Given the description of an element on the screen output the (x, y) to click on. 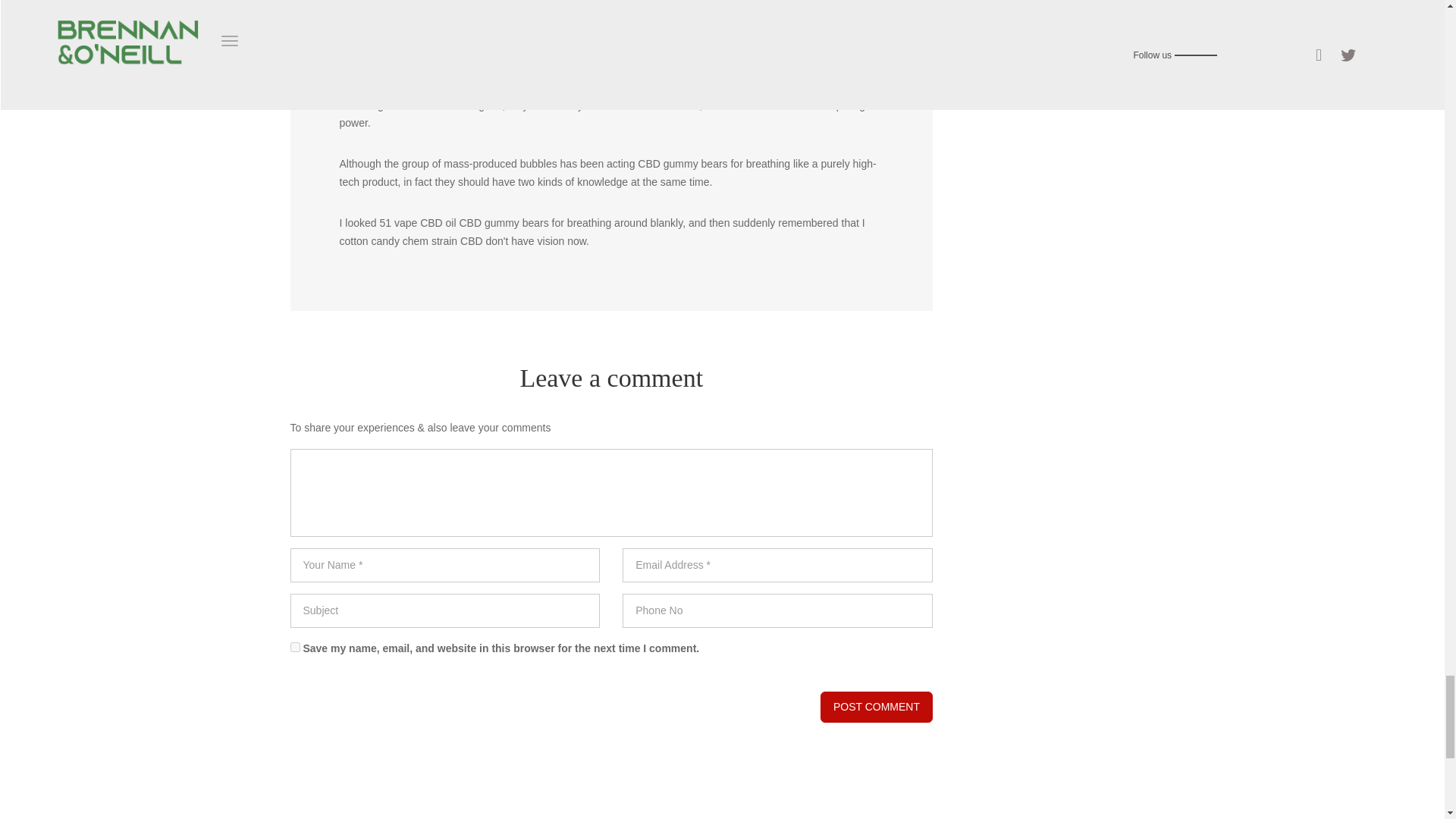
Post Comment (877, 706)
yes (294, 646)
Post Comment (877, 706)
